Given the description of an element on the screen output the (x, y) to click on. 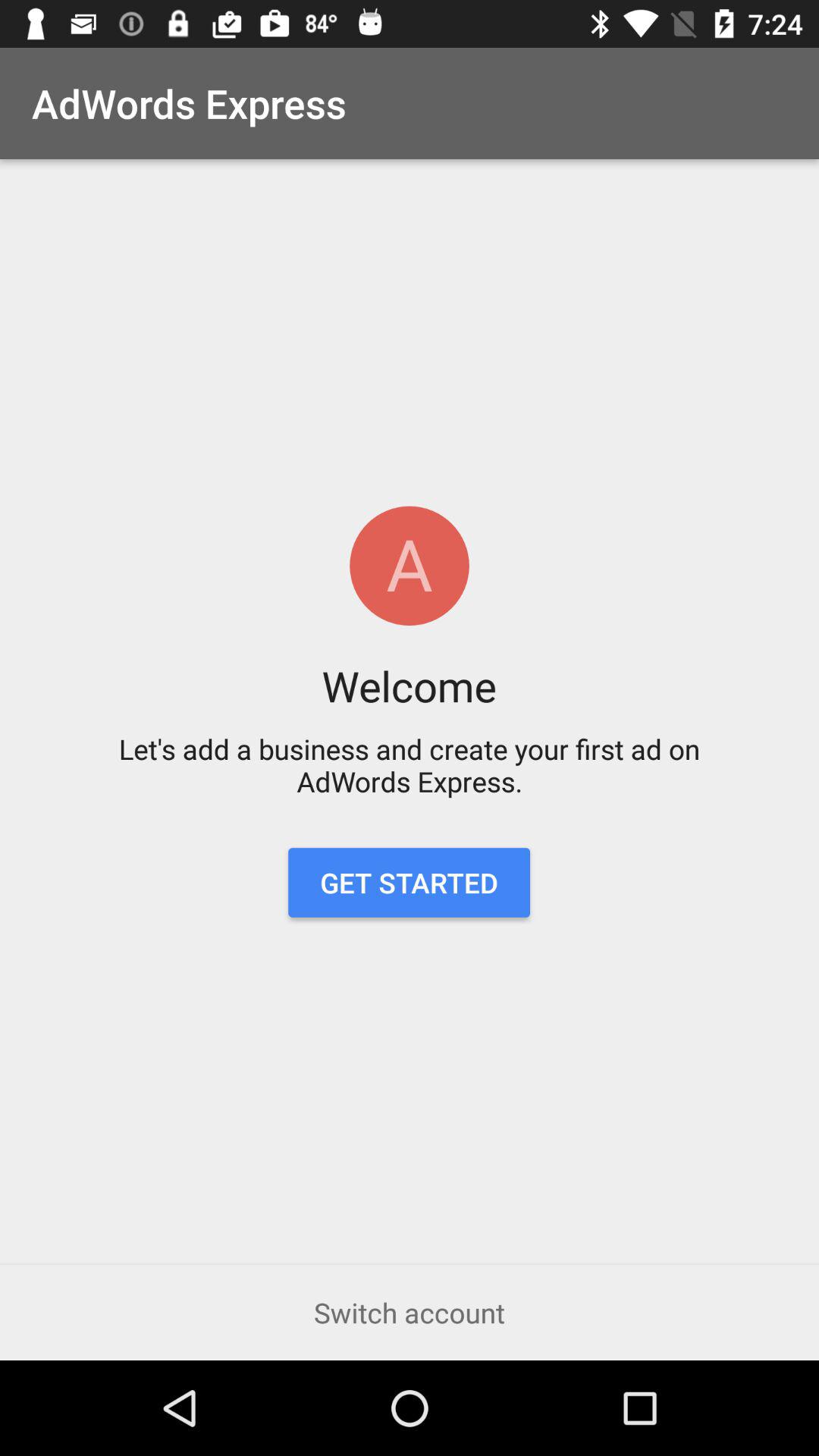
launch the icon below the get started icon (409, 1312)
